Given the description of an element on the screen output the (x, y) to click on. 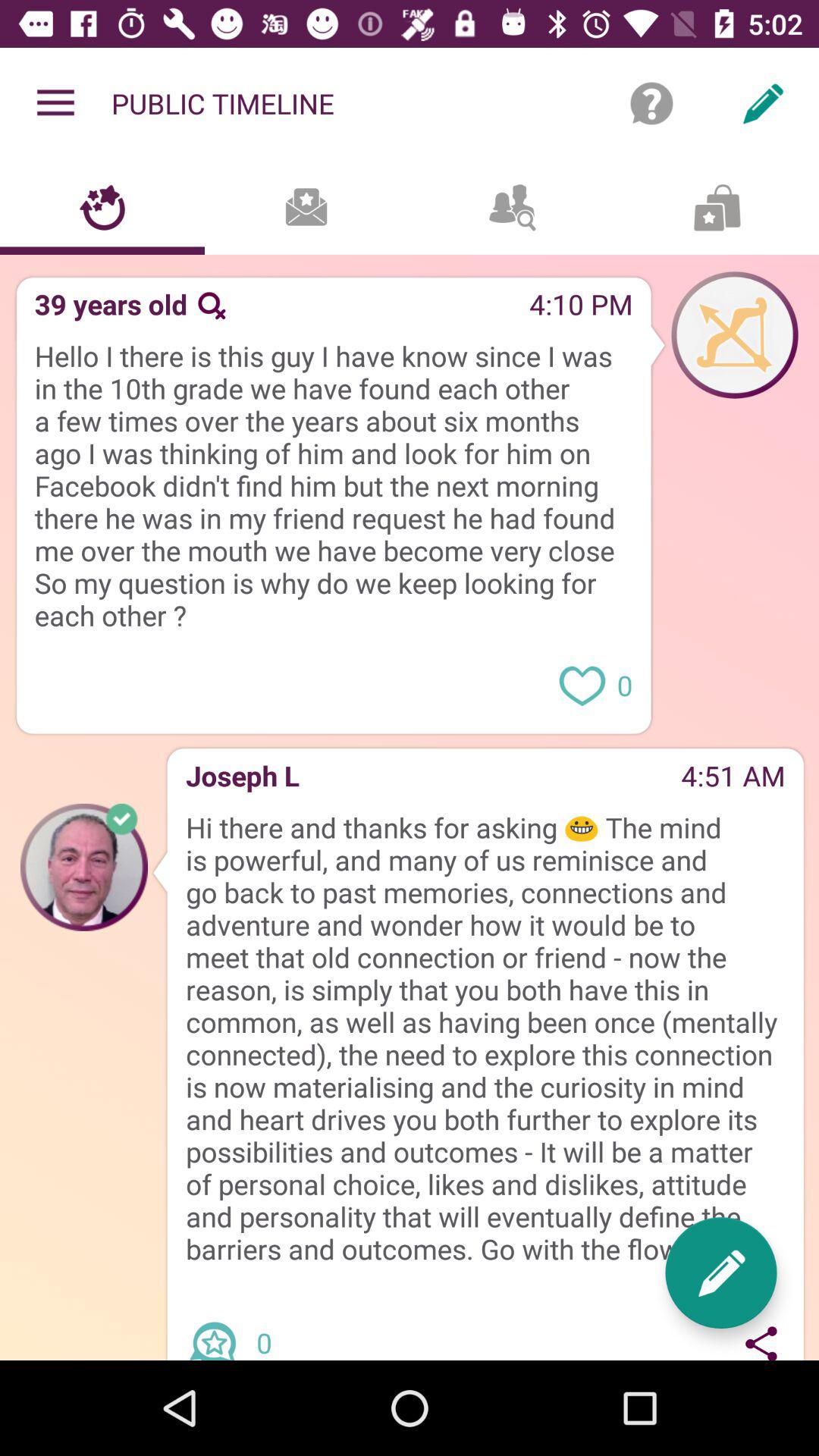
user icon (734, 334)
